Given the description of an element on the screen output the (x, y) to click on. 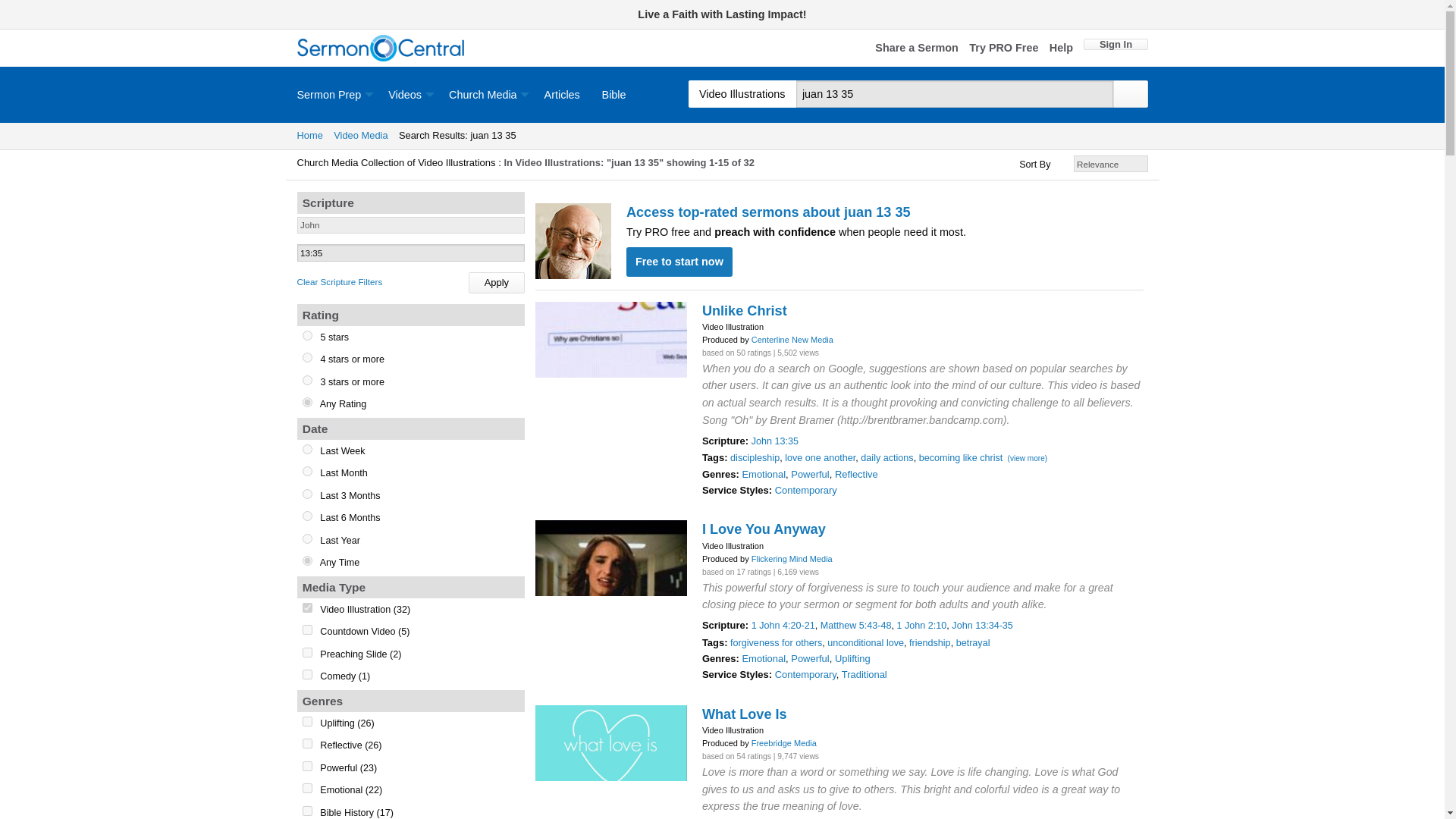
Sign In (1115, 43)
90 (307, 493)
180 (307, 515)
7 (307, 449)
Share a Sermon (916, 48)
SermonCentral.com (380, 48)
juan 13 35 (954, 93)
4 (307, 357)
21 (307, 607)
Bible (614, 94)
5 (307, 743)
Articles (561, 94)
3 (307, 766)
